Given the description of an element on the screen output the (x, y) to click on. 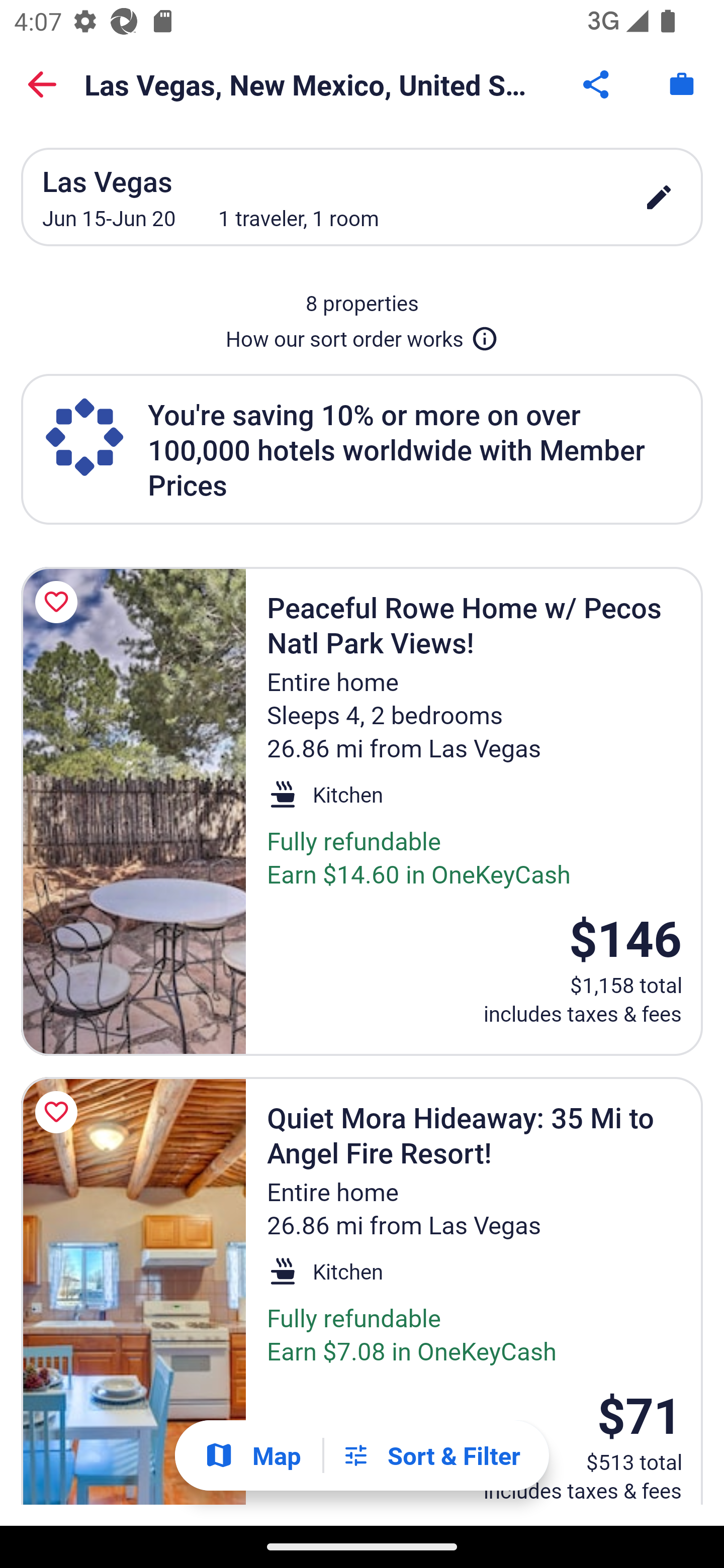
Back (42, 84)
Share Button (597, 84)
Trips. Button (681, 84)
Las Vegas Jun 15-Jun 20 1 traveler, 1 room edit (361, 196)
How our sort order works (361, 334)
Peaceful Rowe Home w/ Pecos Natl Park Views! (133, 811)
Quiet Mora Hideaway: 35 Mi to Angel Fire Resort! (133, 1291)
Filters Sort & Filter Filters Button (430, 1455)
Show map Map Show map Button (252, 1455)
